Given the description of an element on the screen output the (x, y) to click on. 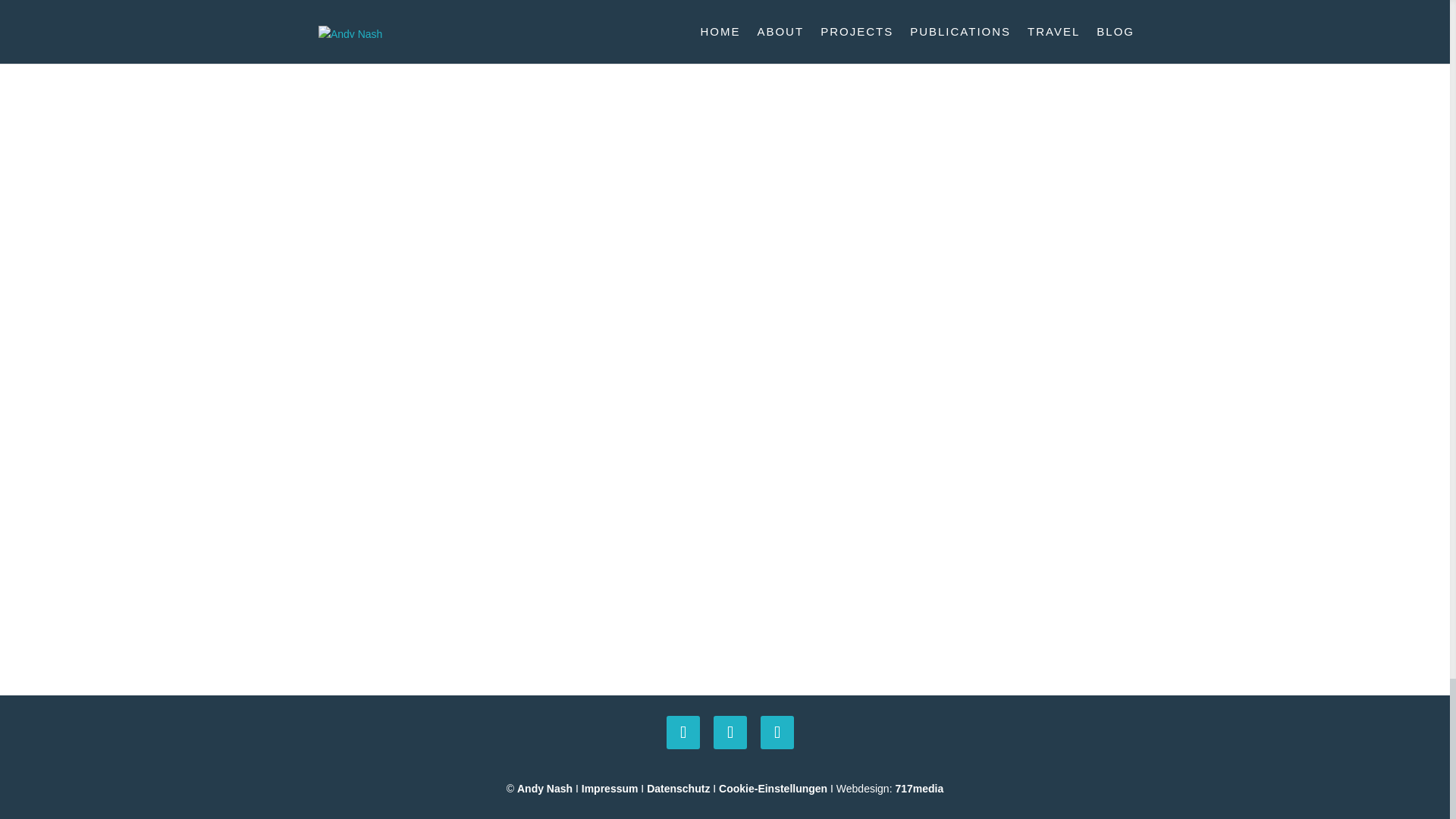
Follow on Youtube (729, 732)
Impressum (609, 788)
Follow on X (683, 732)
Andy Nash (544, 788)
Follow on Flickr (776, 732)
Datenschutz (678, 788)
